Given the description of an element on the screen output the (x, y) to click on. 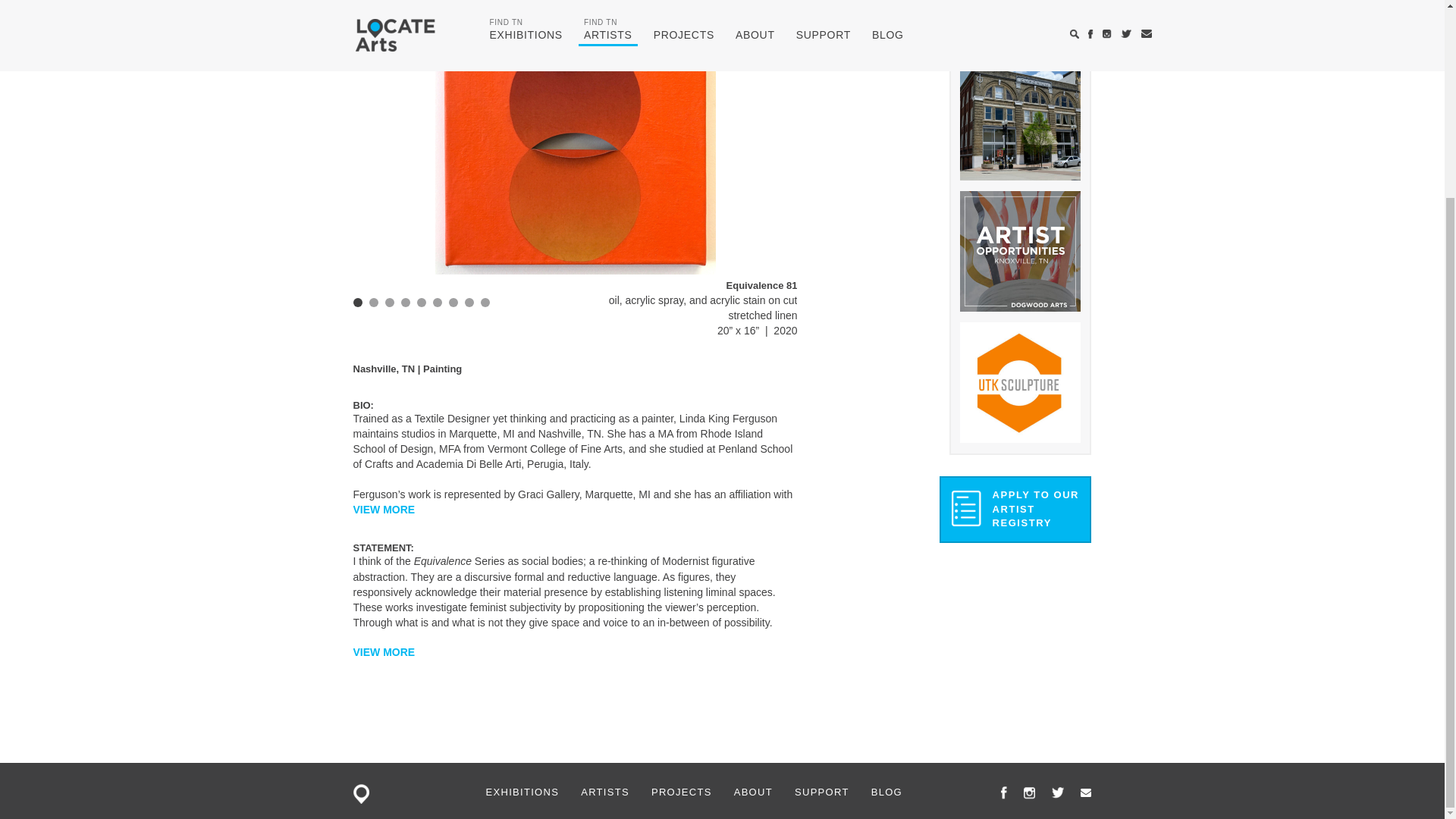
Next (777, 131)
VIEW MORE (383, 509)
7 (453, 302)
VIEW MORE (383, 652)
APPLY TO OUR ARTIST REGISTRY (1014, 508)
9 (484, 302)
6 (436, 302)
1 (357, 302)
3 (389, 302)
5 (421, 302)
ARTISTS (604, 791)
4 (404, 302)
8 (468, 302)
Prev (373, 131)
2 (372, 302)
